Given the description of an element on the screen output the (x, y) to click on. 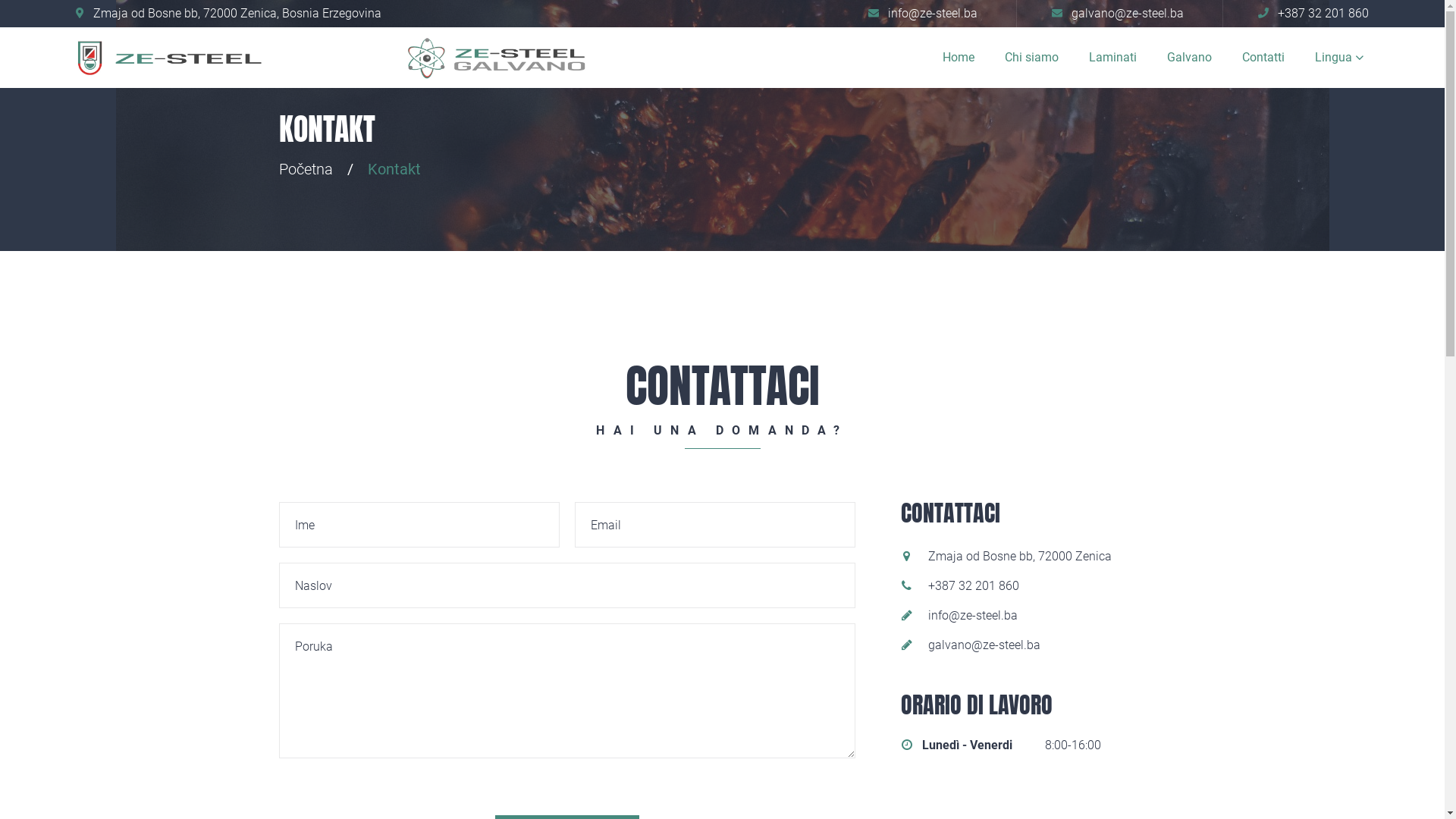
Contatti Element type: text (1263, 57)
Chi siamo Element type: text (1031, 57)
Galvano Element type: text (1189, 57)
galvano@ze-steel.ba Element type: text (1117, 13)
Laminati Element type: text (1112, 57)
Lingua Element type: text (1341, 57)
info@ze-steel.ba Element type: text (922, 13)
+387 32 201 860 Element type: text (1313, 13)
Home Element type: text (958, 57)
